Given the description of an element on the screen output the (x, y) to click on. 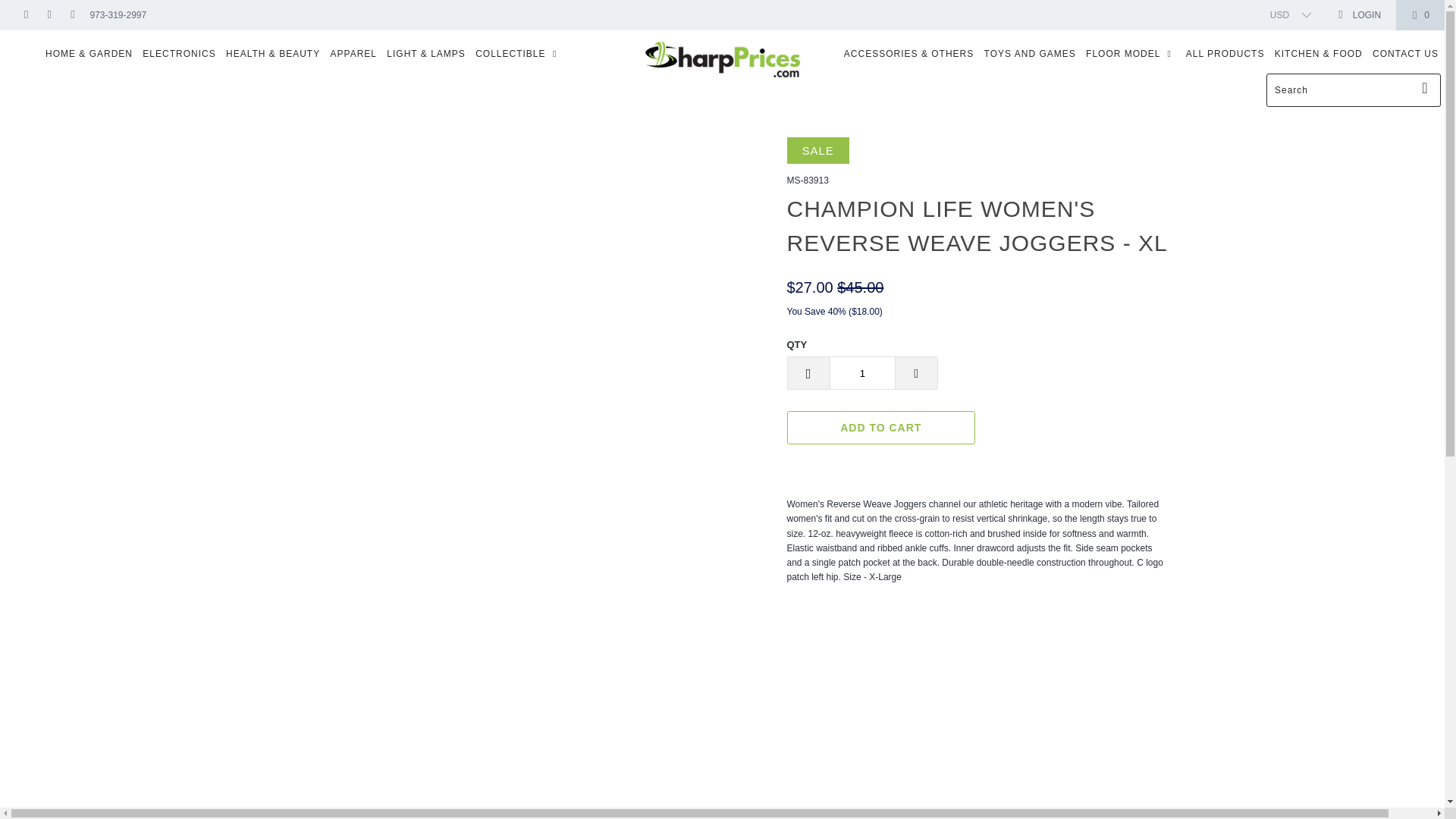
SharpPrices on Instagram (71, 14)
ELECTRONICS (178, 54)
LOGIN (1358, 15)
SharpPrices (722, 61)
0 (1420, 15)
SharpPrices on Twitter (25, 14)
SharpPrices on Facebook (48, 14)
My Account  (1358, 15)
1 (862, 372)
973-319-2997 (117, 15)
